Given the description of an element on the screen output the (x, y) to click on. 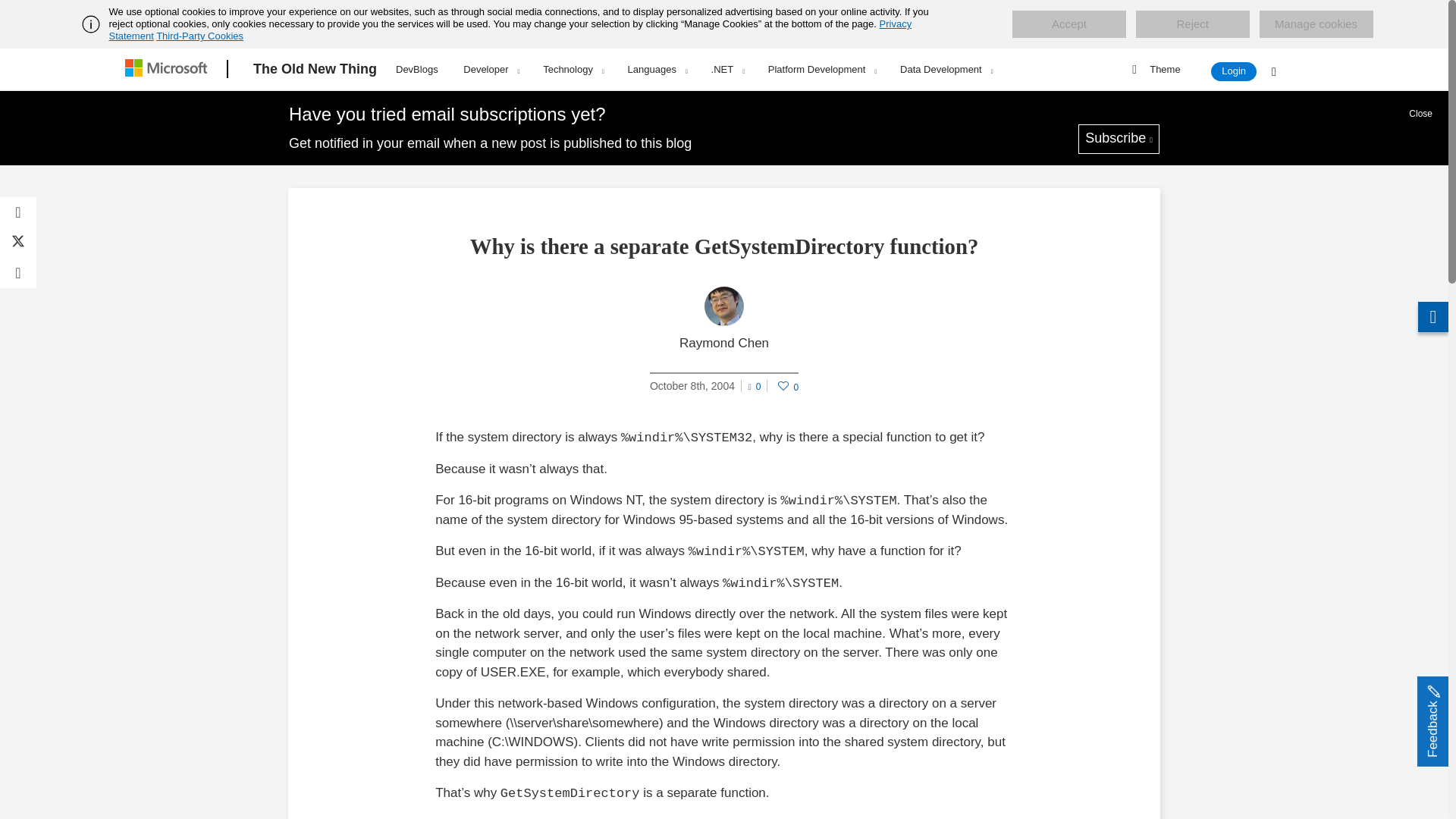
The Old New Thing (315, 69)
Developer (490, 69)
Share on Facebook (18, 212)
Reject (1192, 23)
Accept (1068, 23)
Languages (657, 69)
Privacy Statement (510, 29)
DevBlogs (416, 67)
Technology (572, 69)
Manage cookies (1316, 23)
Jump to comments (754, 384)
Third-Party Cookies (199, 35)
Share on Twitter (18, 242)
Share on LinkedIn (18, 272)
